Given the description of an element on the screen output the (x, y) to click on. 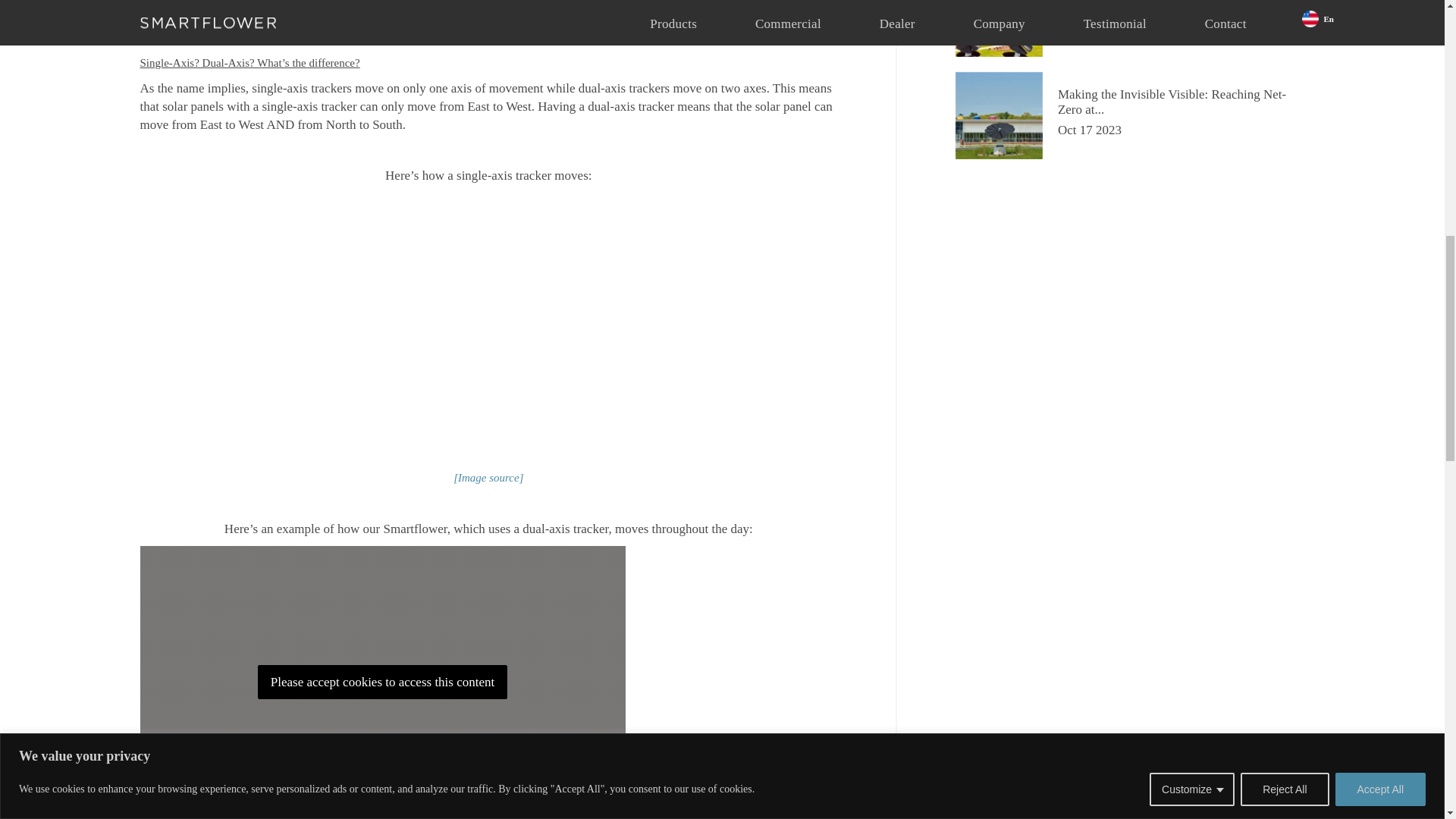
Making the Invisible Visible: Reaching Net-Zero at... (1181, 112)
Solving Conventional Problems with Unconventional ... (1181, 18)
